Given the description of an element on the screen output the (x, y) to click on. 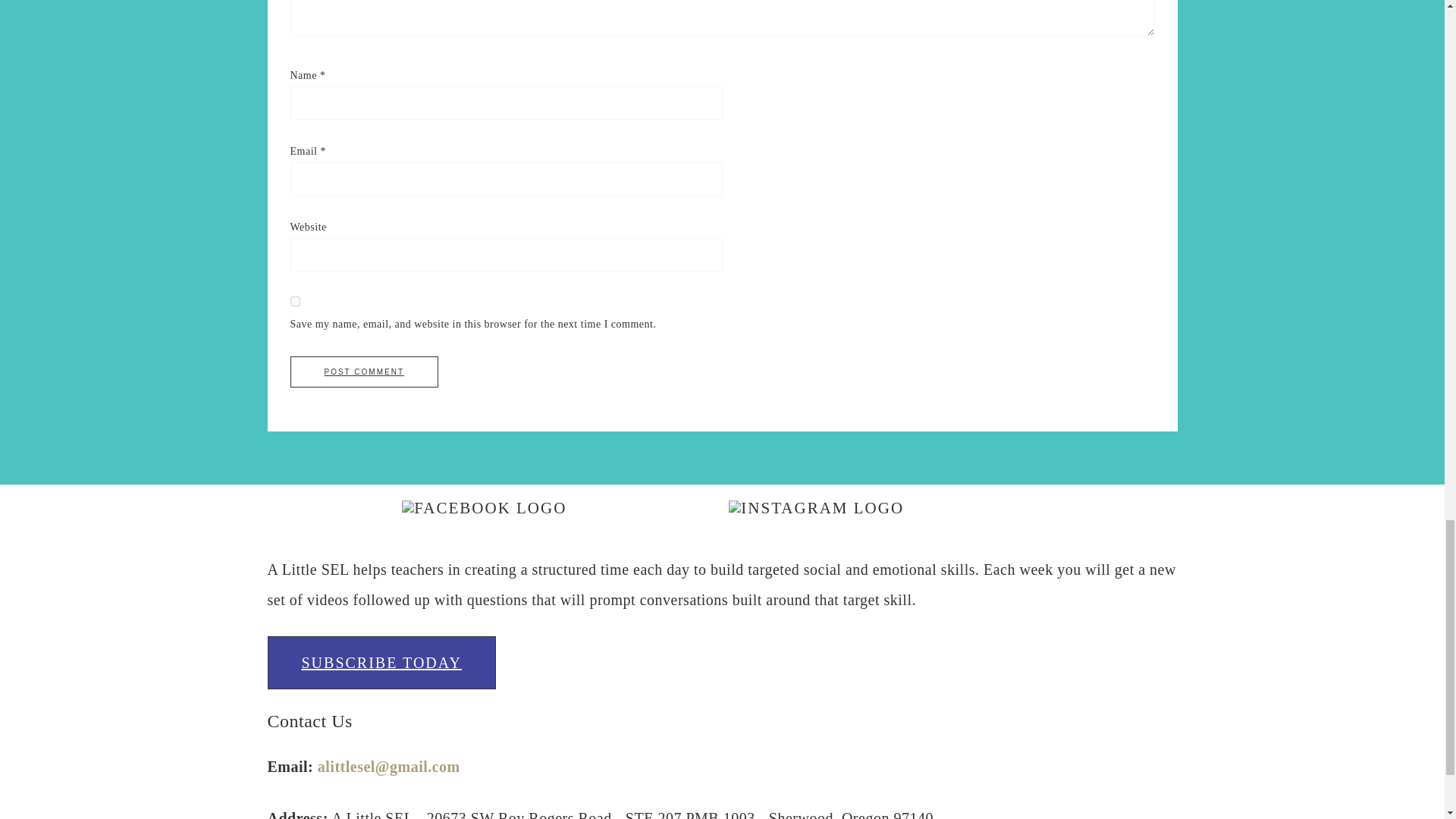
SUBSCRIBE TODAY (380, 662)
Post Comment (363, 371)
Post Comment (363, 371)
yes (294, 301)
